Given the description of an element on the screen output the (x, y) to click on. 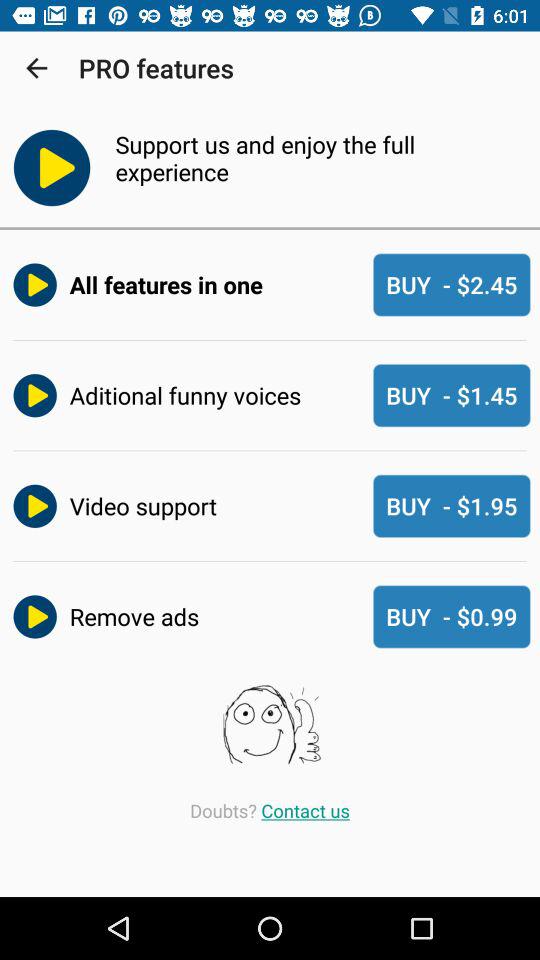
tap the doubts? contact us icon (269, 810)
